Given the description of an element on the screen output the (x, y) to click on. 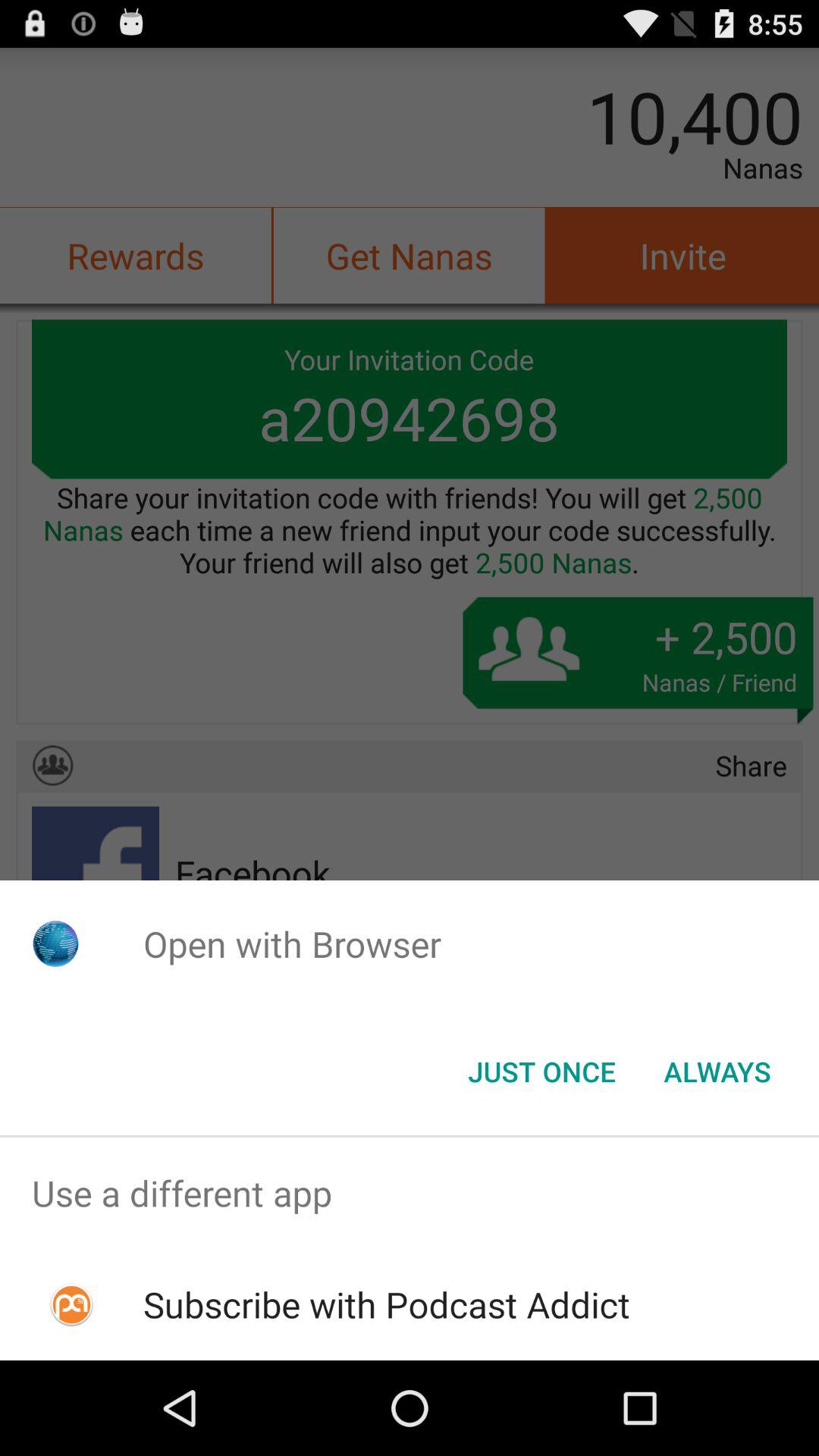
scroll until use a different icon (409, 1192)
